Given the description of an element on the screen output the (x, y) to click on. 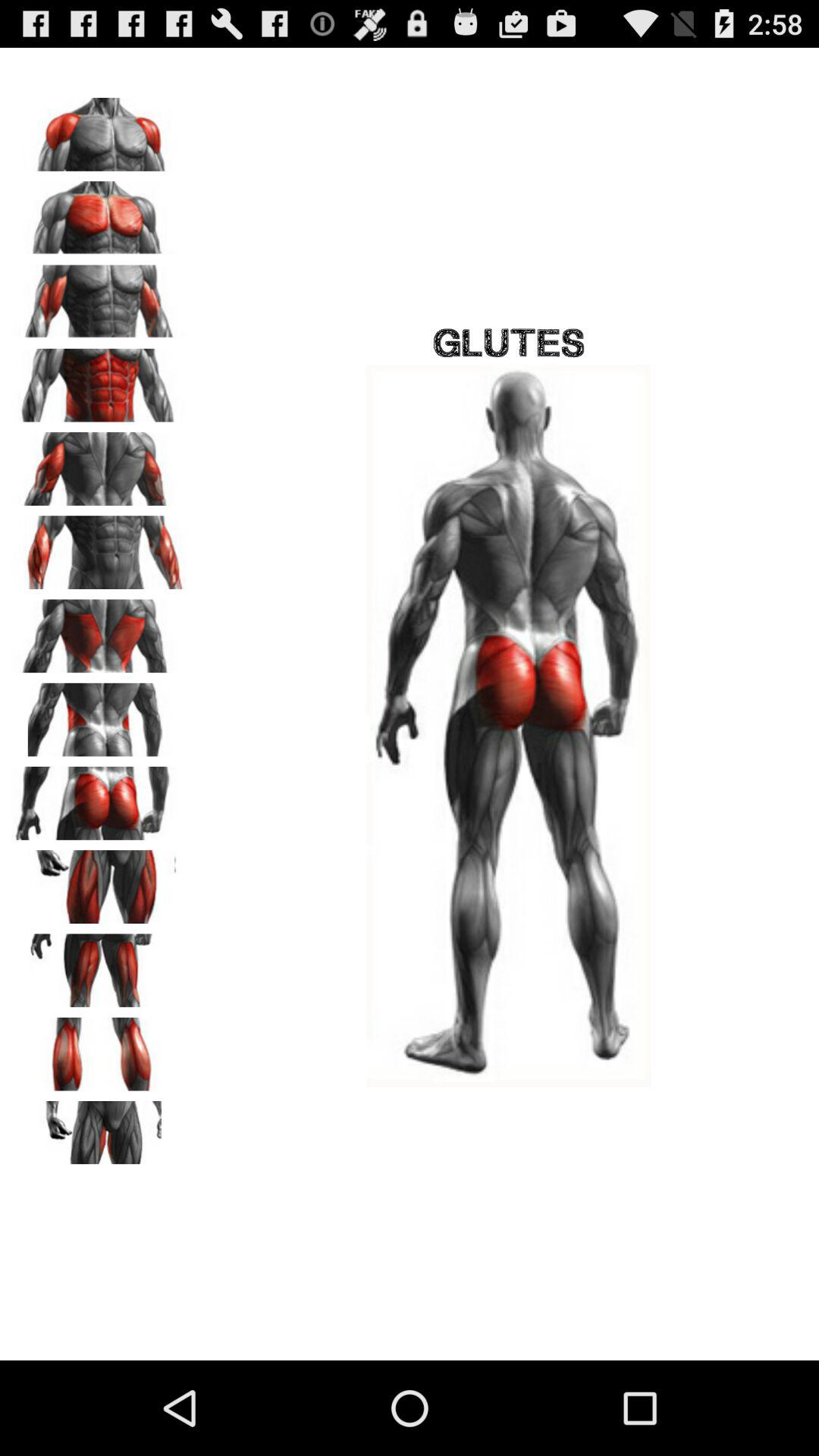
abs view (99, 380)
